Given the description of an element on the screen output the (x, y) to click on. 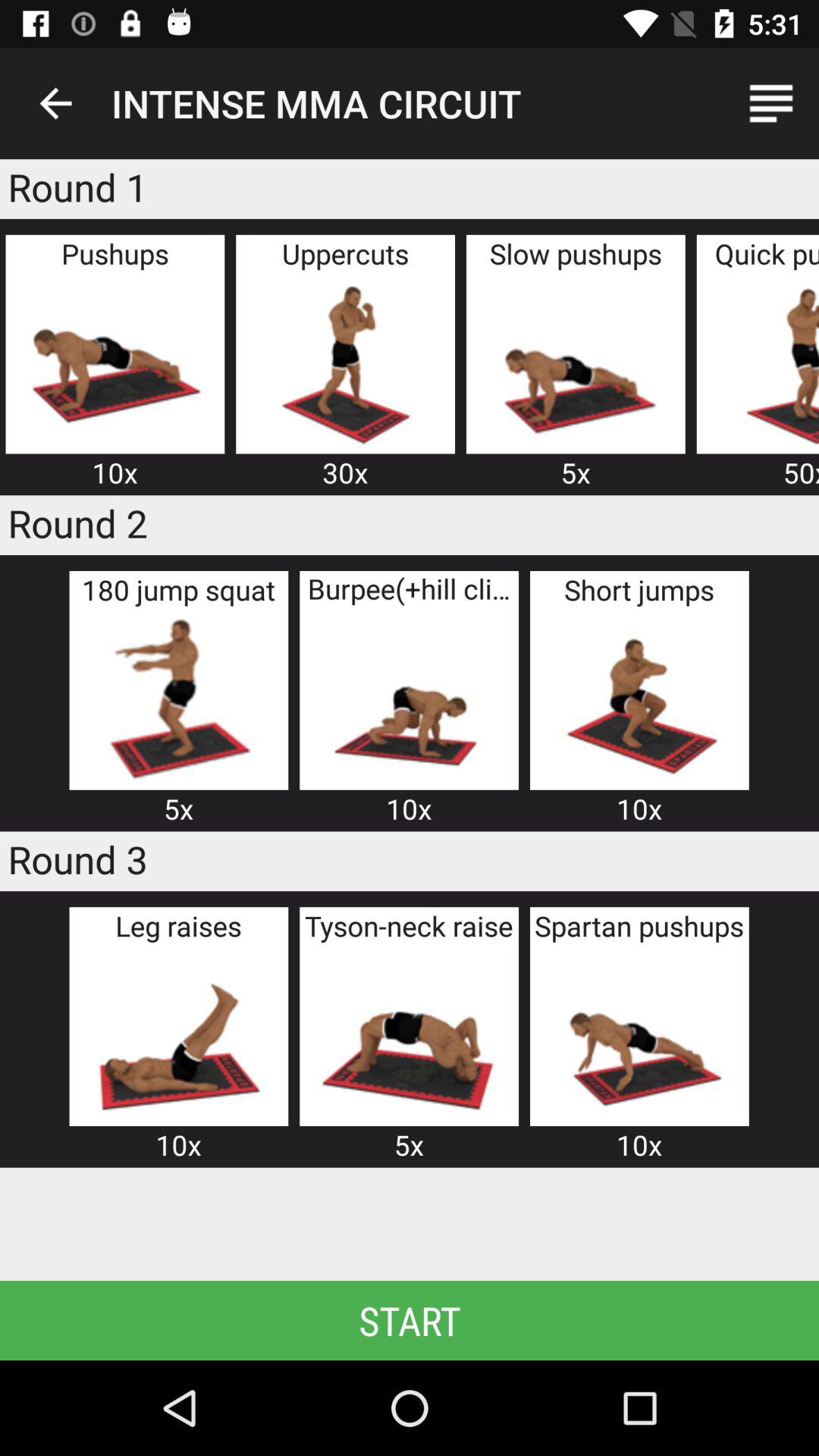
click the item next to the slow pushups item (344, 362)
